Given the description of an element on the screen output the (x, y) to click on. 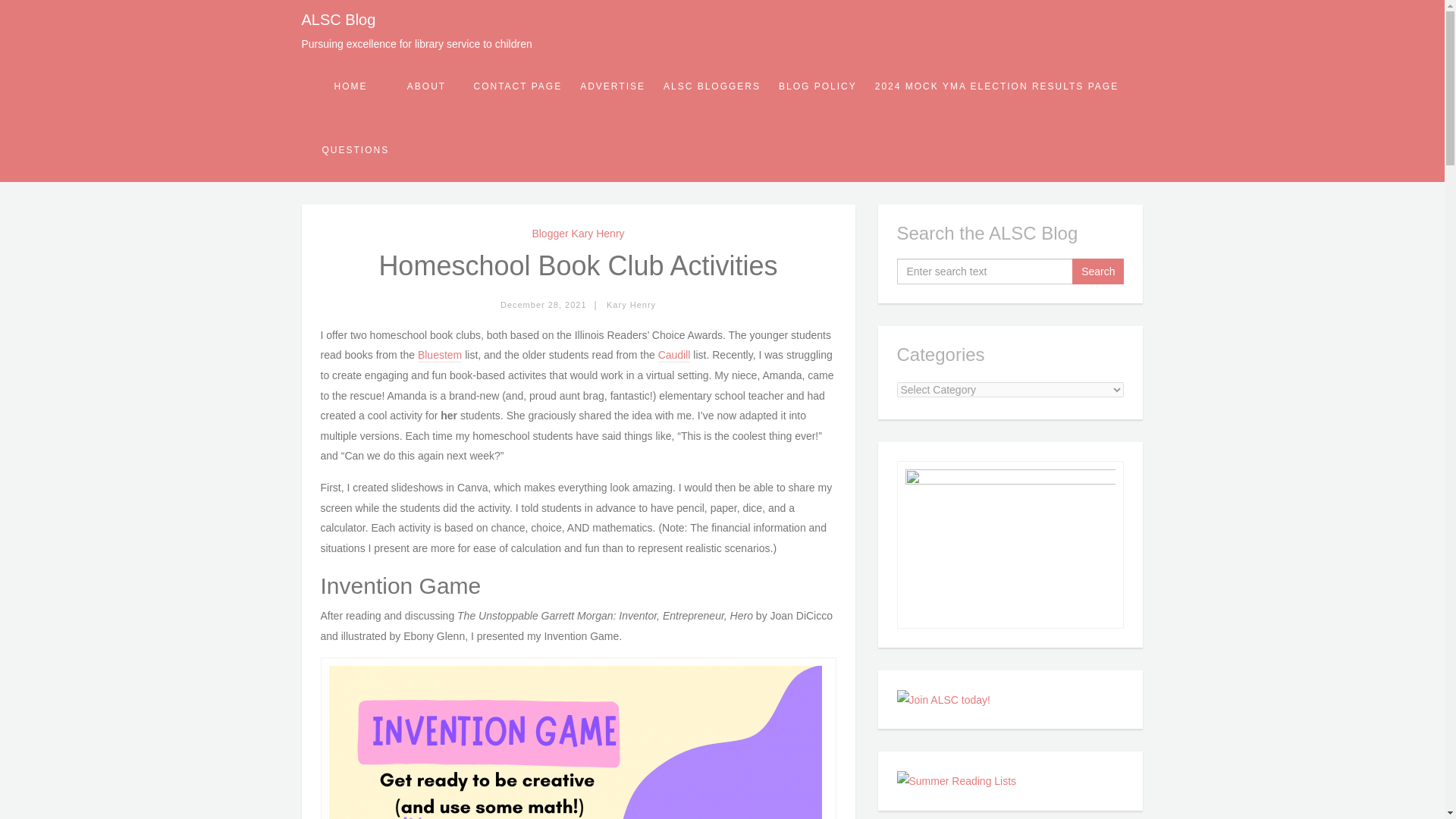
December 28, 2021 (543, 304)
Blogger Kary Henry (577, 233)
BLOG POLICY (818, 85)
ABOUT (426, 85)
QUESTIONS (355, 149)
Questions (355, 149)
CONTACT PAGE (517, 85)
Search (1097, 271)
Search (1097, 271)
Home (350, 85)
